Given the description of an element on the screen output the (x, y) to click on. 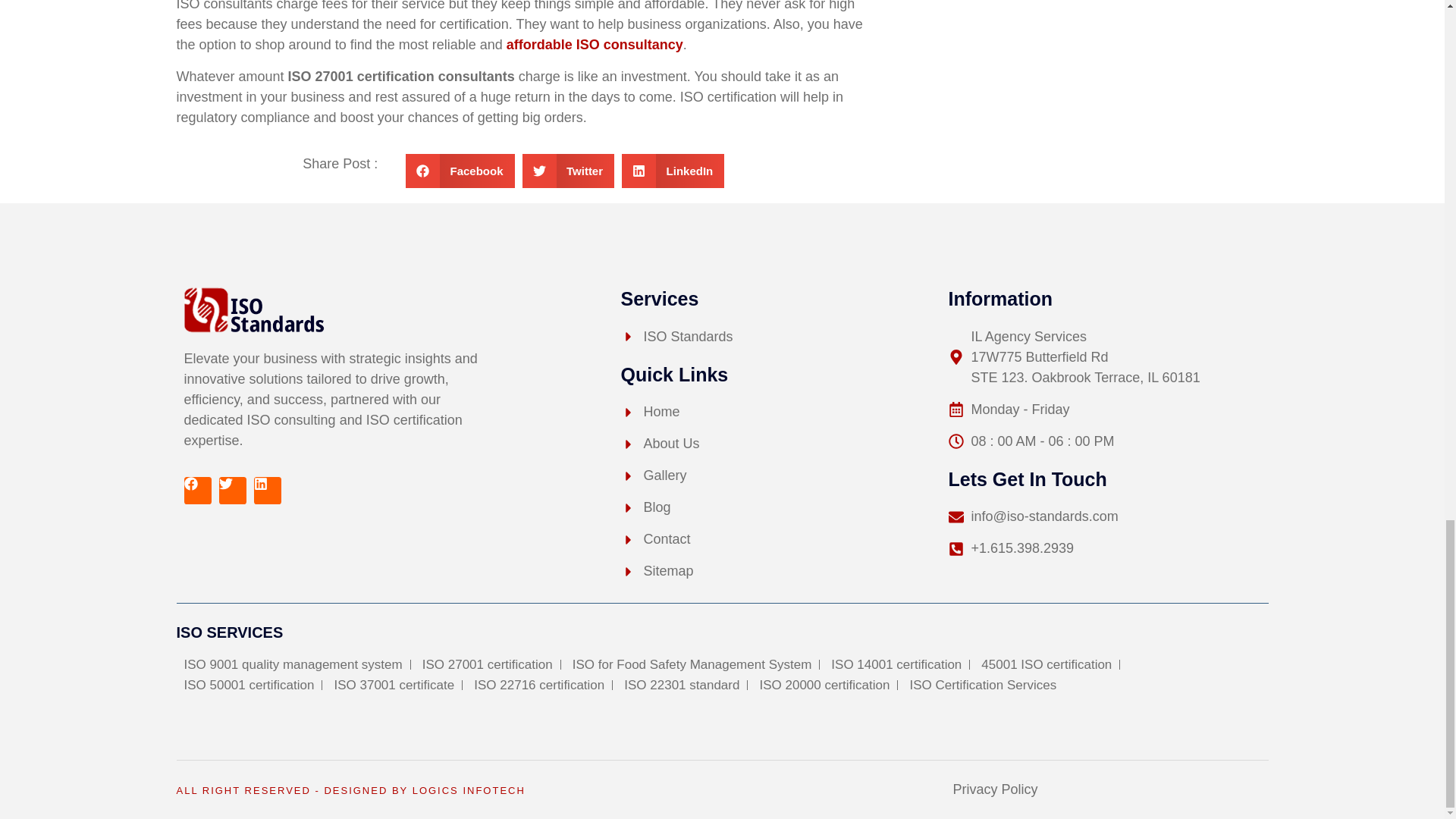
ISO 22301 Business Continuity Management System (681, 685)
ISO 22716 Good Manufacturing Practice (538, 685)
ISO 22000 Food Safety Management System (692, 664)
ISO 14001 Environmental Management System (896, 664)
ISO 20000 Information Technology Security Management (824, 685)
How Do ISO 27001 Certification Consultants Work? (253, 309)
ISO 9001 Quality Management System (293, 664)
ISO 45001 Occupational Health Safety Management System (1046, 664)
ISO 50001 Energy Management System (248, 685)
affordable ISO consultancy (594, 44)
